Given the description of an element on the screen output the (x, y) to click on. 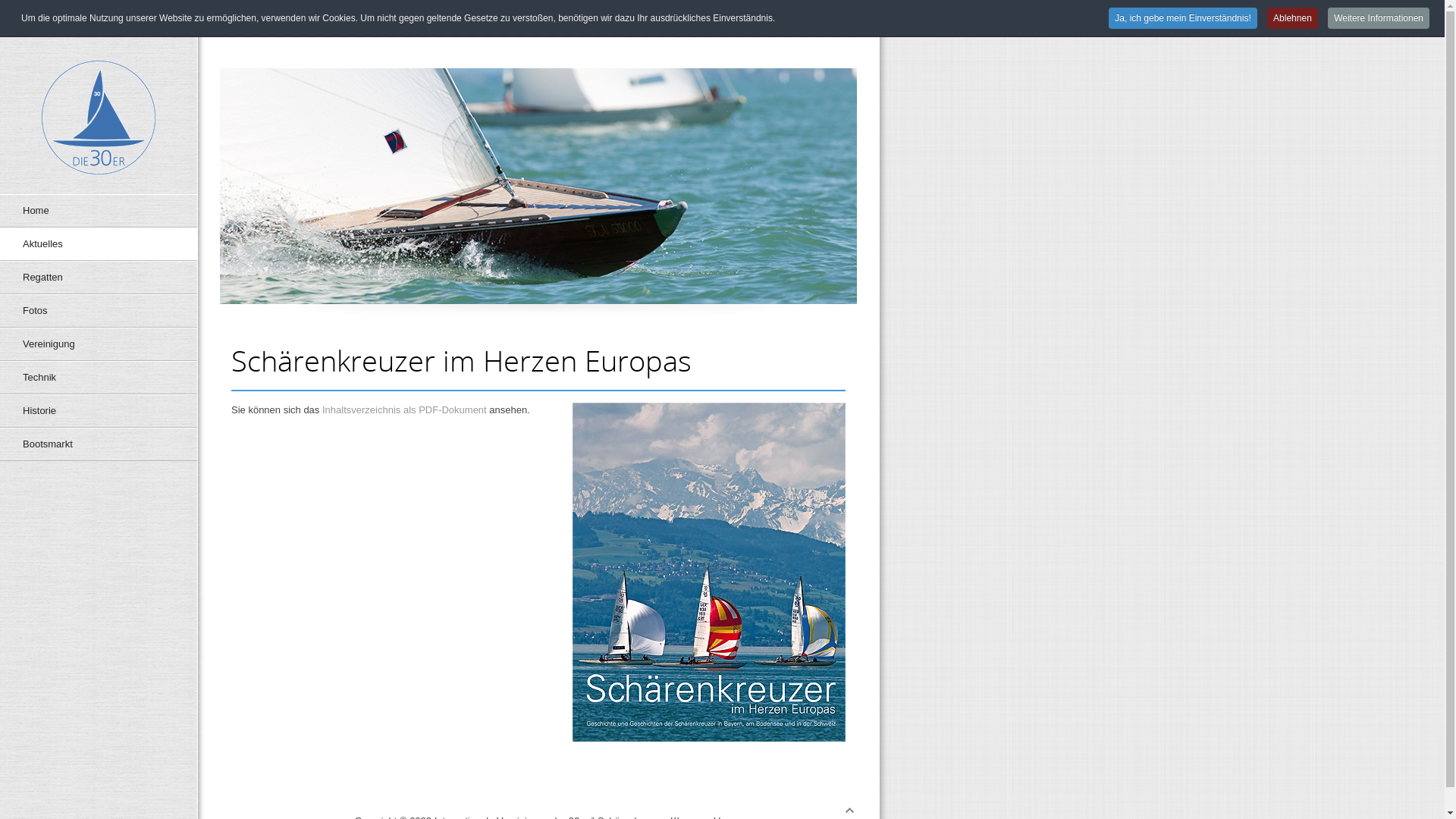
Technik Element type: text (98, 377)
Aktuelles Element type: text (98, 244)
Regatten Element type: text (98, 277)
Historie Element type: text (98, 410)
Vereinigung Element type: text (98, 344)
Kontakt Element type: text (713, 14)
Fotos Element type: text (98, 310)
Impressum Element type: text (832, 14)
Datenschutz Element type: text (768, 14)
Bootsmarkt Element type: text (98, 444)
Inhaltsverzeichnis als PDF-Dokument Element type: text (404, 409)
Weitere Informationen Element type: text (1378, 17)
Home Element type: text (98, 210)
Reset Element type: text (3, 3)
Ablehnen Element type: text (1292, 17)
